Given the description of an element on the screen output the (x, y) to click on. 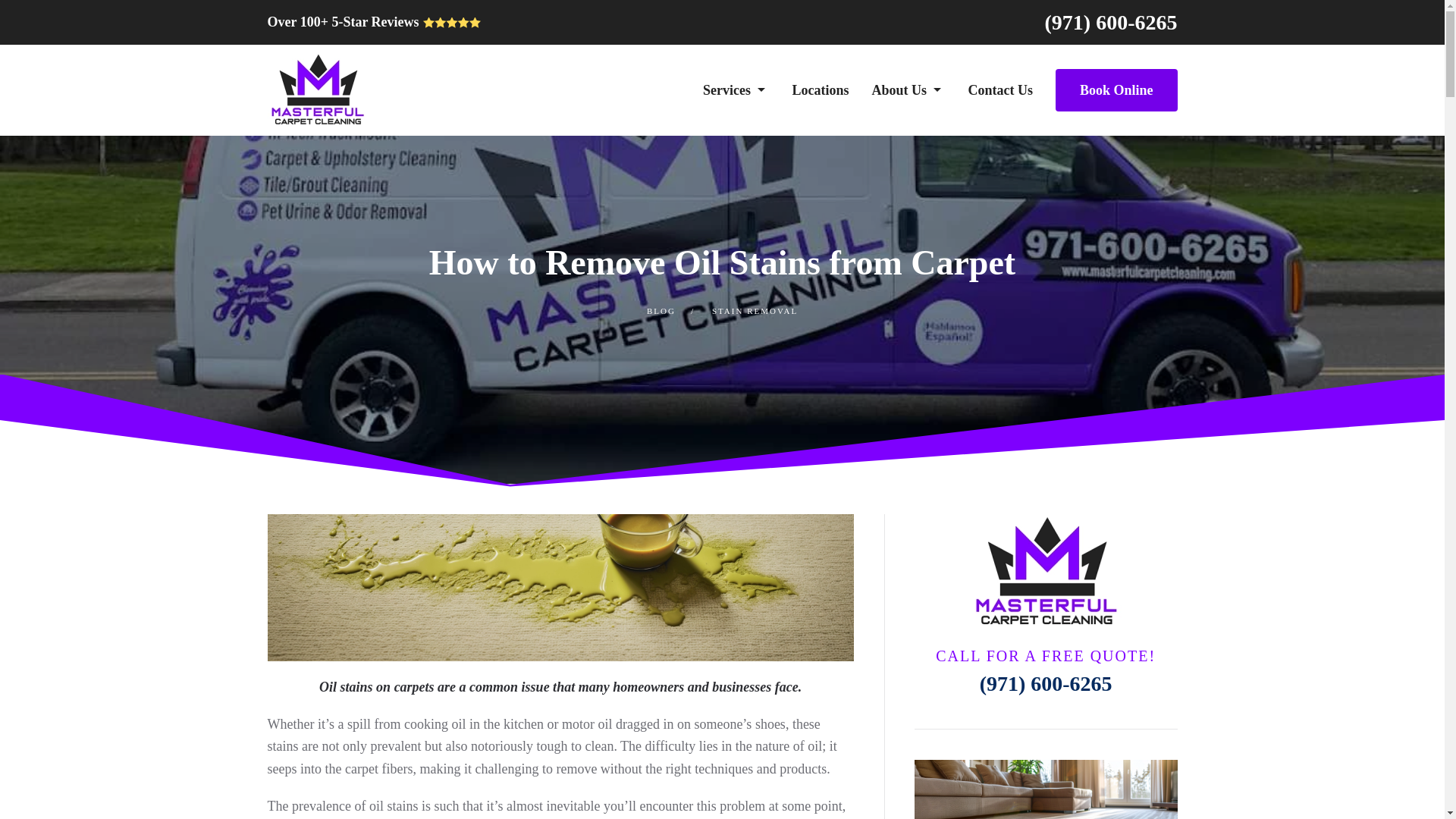
Book Online (1116, 89)
BLOG (660, 310)
